Given the description of an element on the screen output the (x, y) to click on. 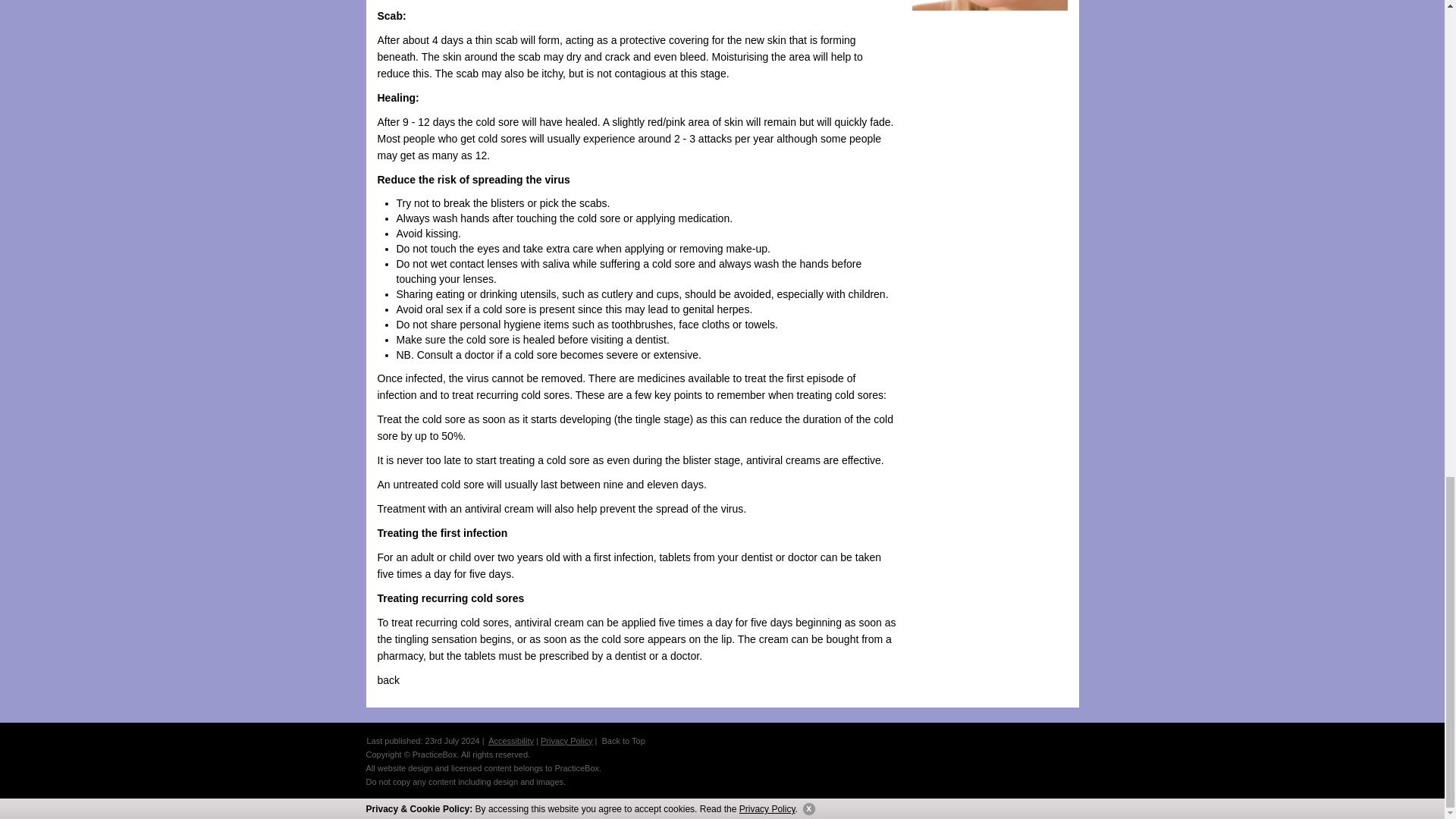
Accessibility (510, 740)
back (388, 680)
